Given the description of an element on the screen output the (x, y) to click on. 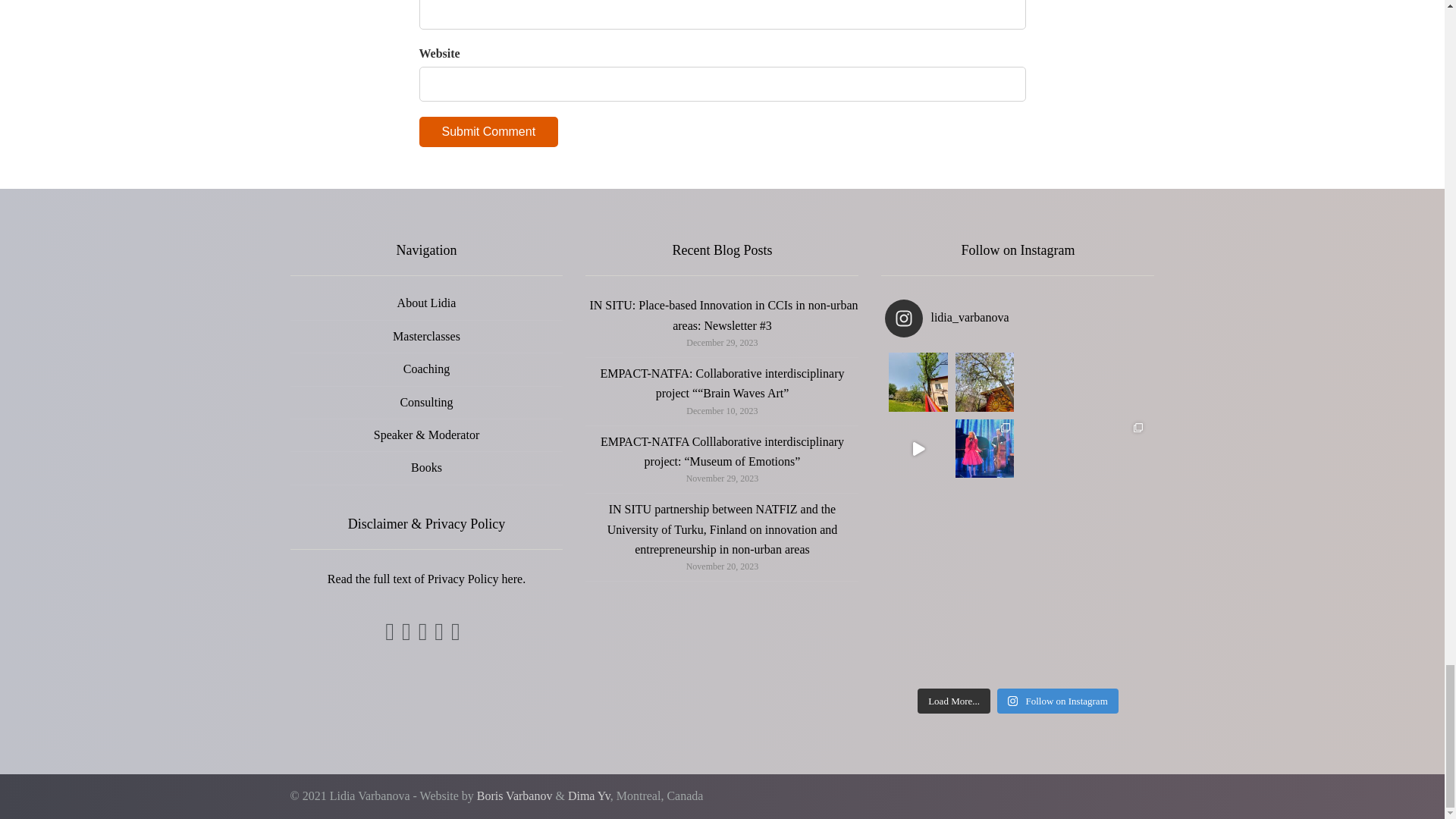
Submit Comment (488, 132)
